Given the description of an element on the screen output the (x, y) to click on. 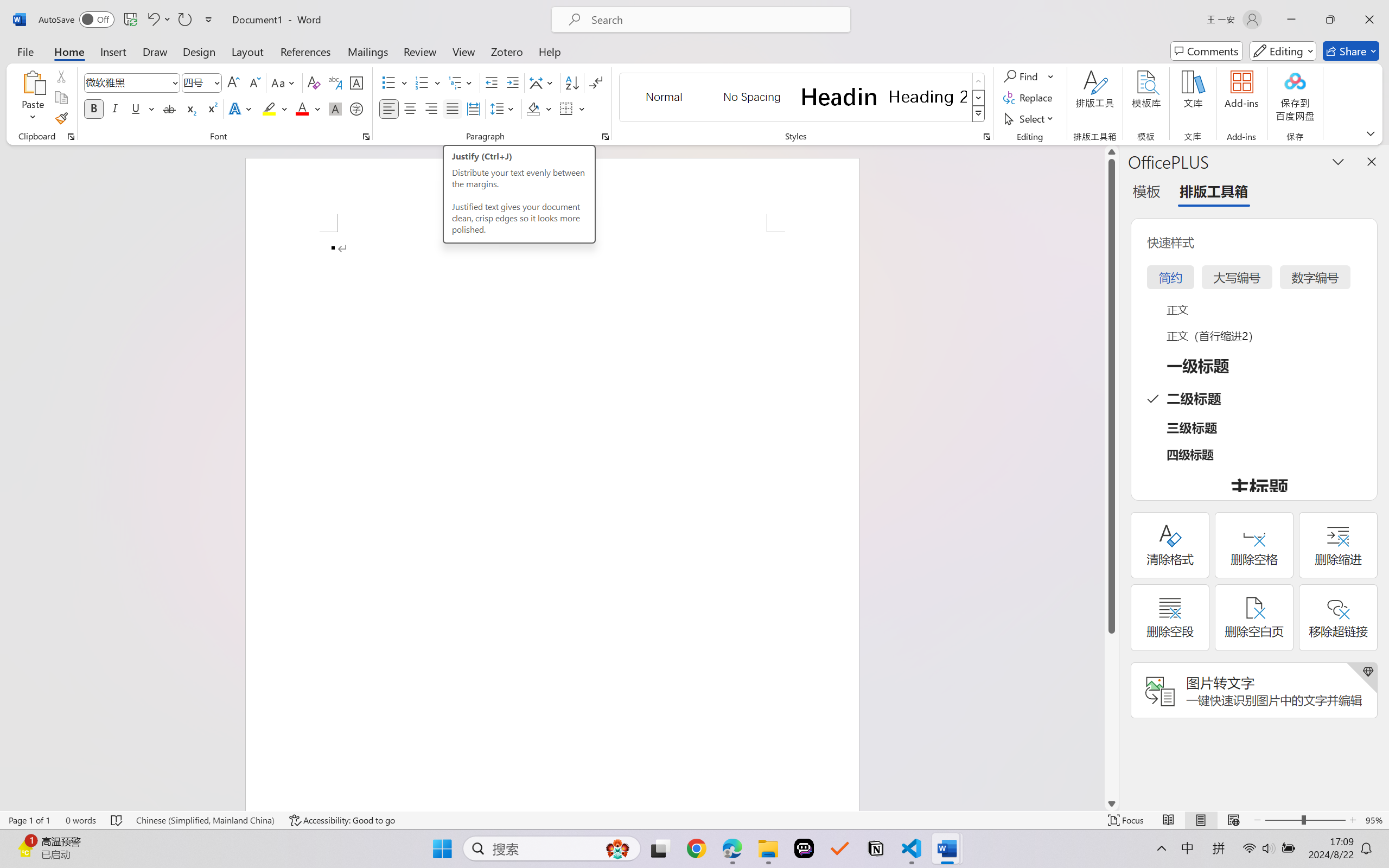
Repeat Doc Close (184, 19)
